Given the description of an element on the screen output the (x, y) to click on. 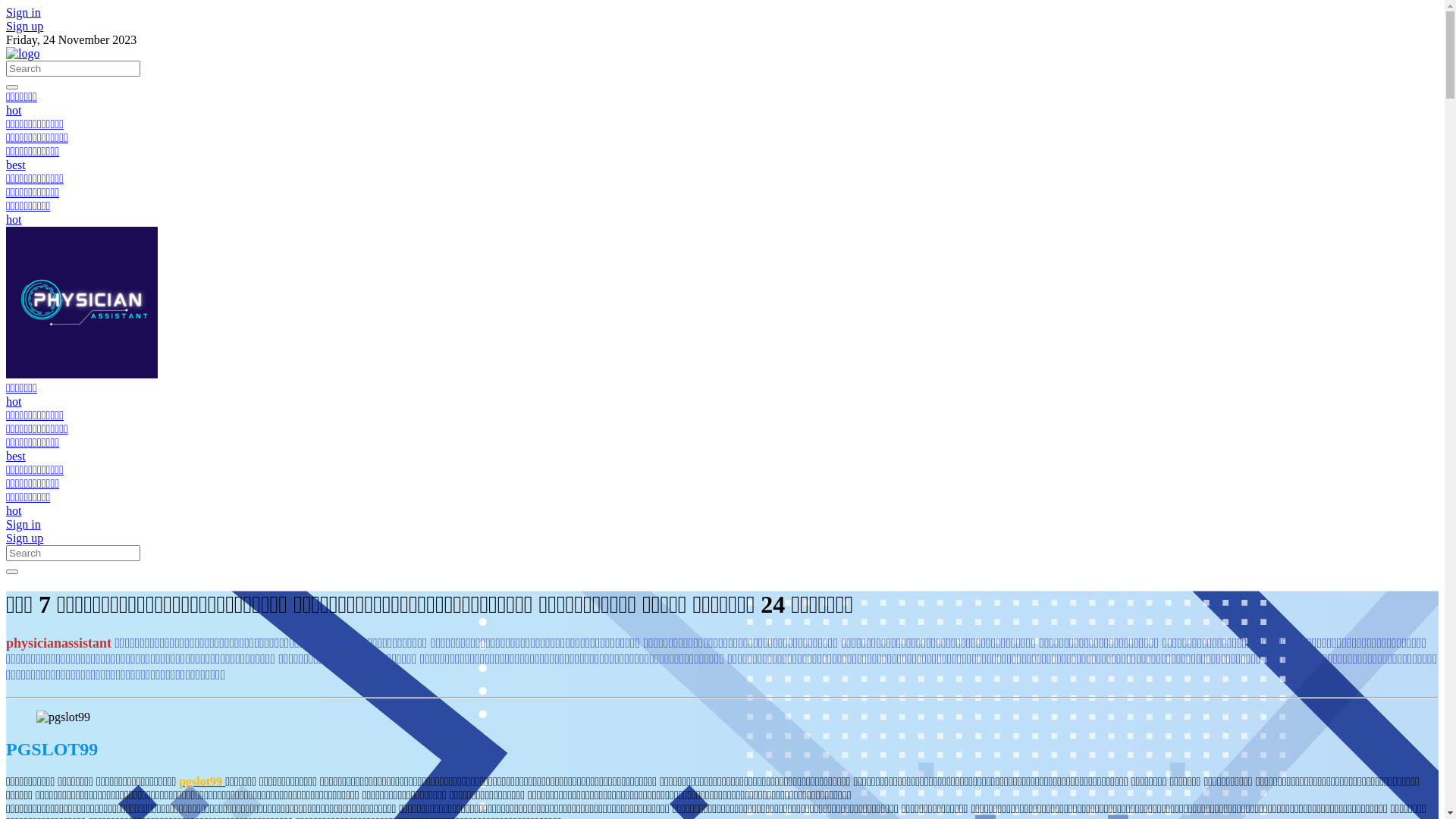
Sign in Element type: text (23, 12)
Sign up Element type: text (24, 537)
pgslot99 Element type: text (201, 781)
Sign up Element type: text (24, 25)
Sign in Element type: text (23, 523)
